Given the description of an element on the screen output the (x, y) to click on. 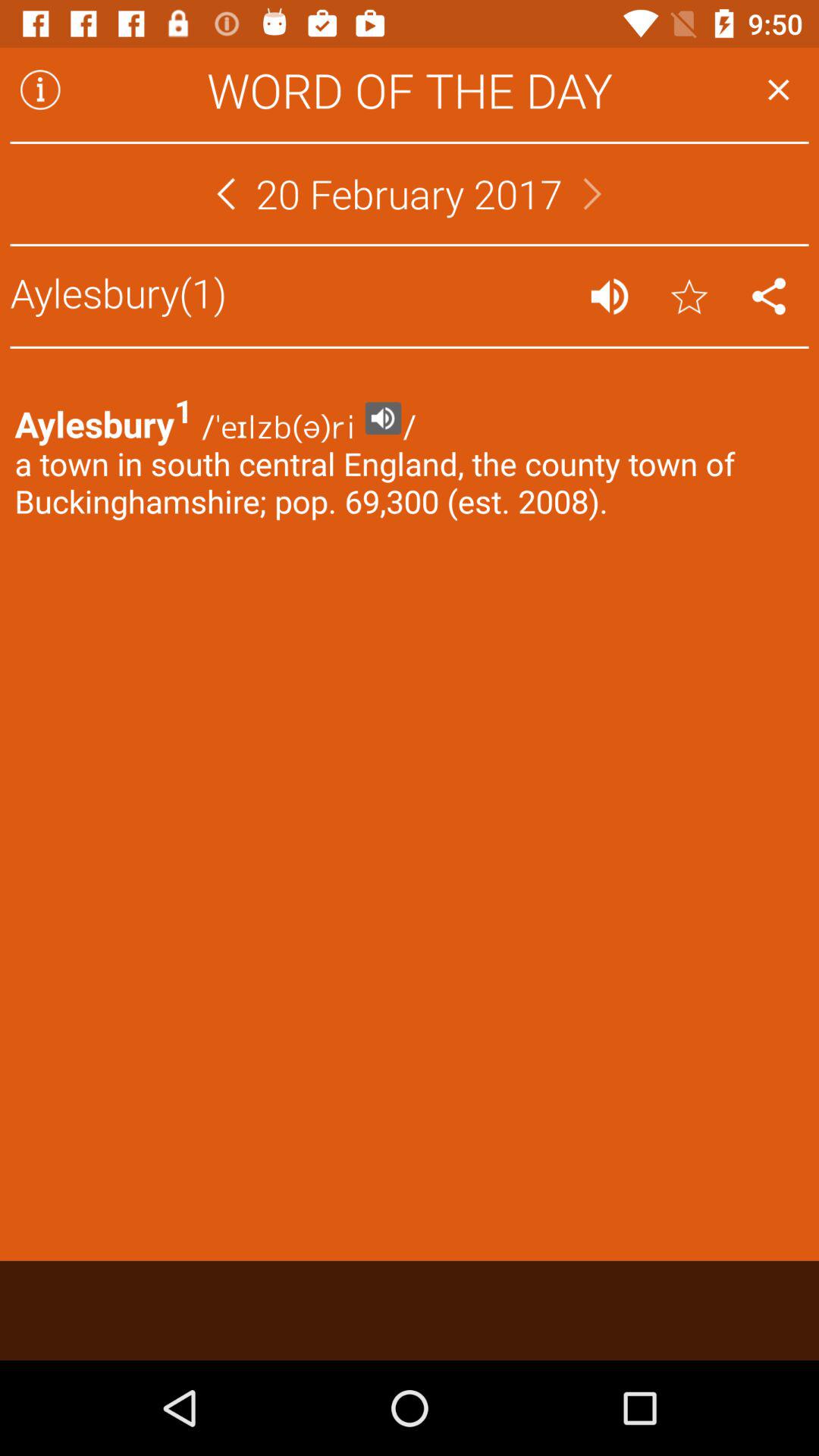
tap app to the left of the 20 february 2017 icon (225, 193)
